Given the description of an element on the screen output the (x, y) to click on. 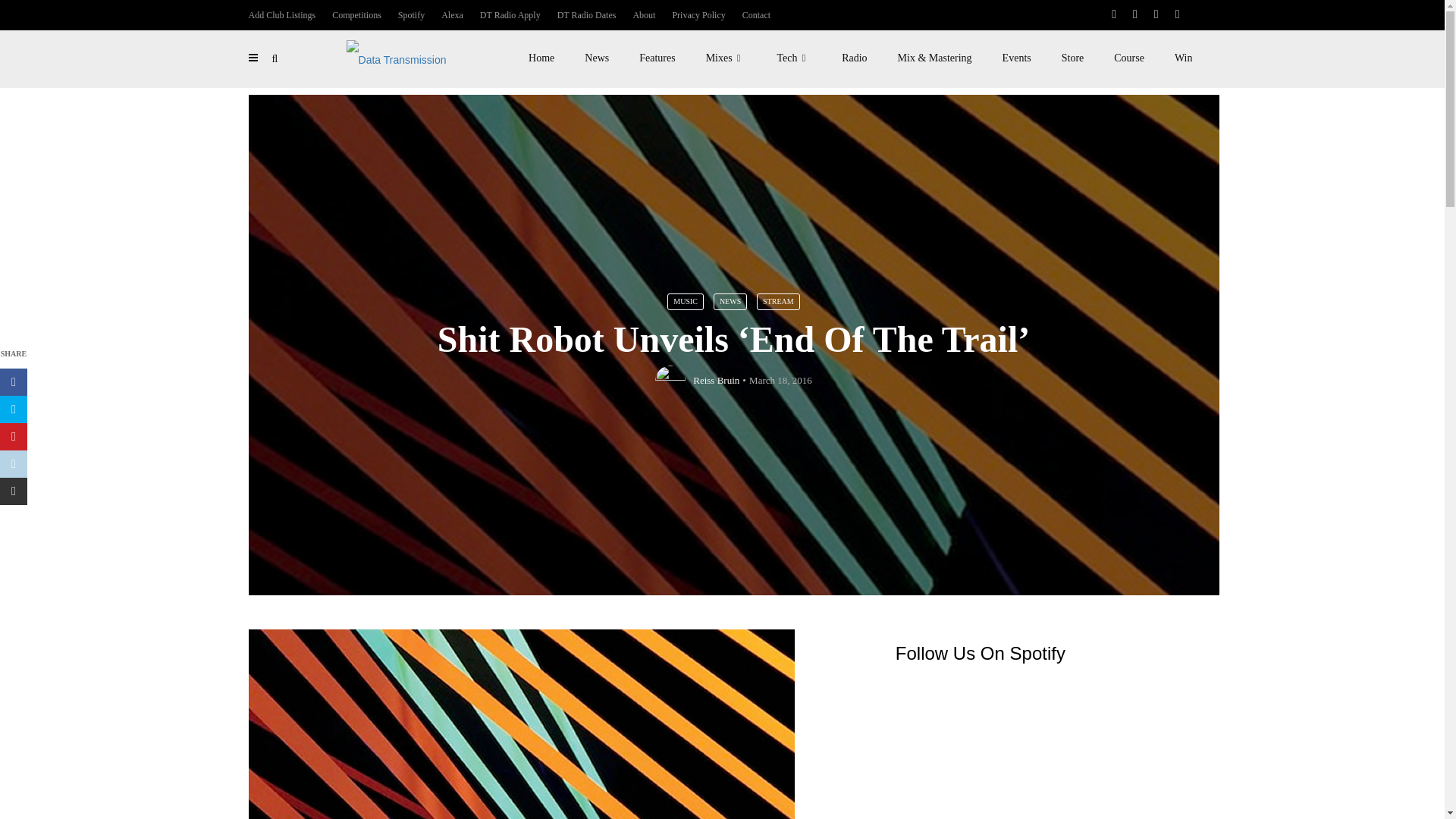
Tech (794, 57)
Mixes (725, 57)
Features (657, 57)
News (596, 57)
Events (1016, 57)
Spotify Embed: New Music Friday (1045, 749)
Radio (854, 57)
Course (1128, 57)
Store (1072, 57)
Home (541, 57)
